Given the description of an element on the screen output the (x, y) to click on. 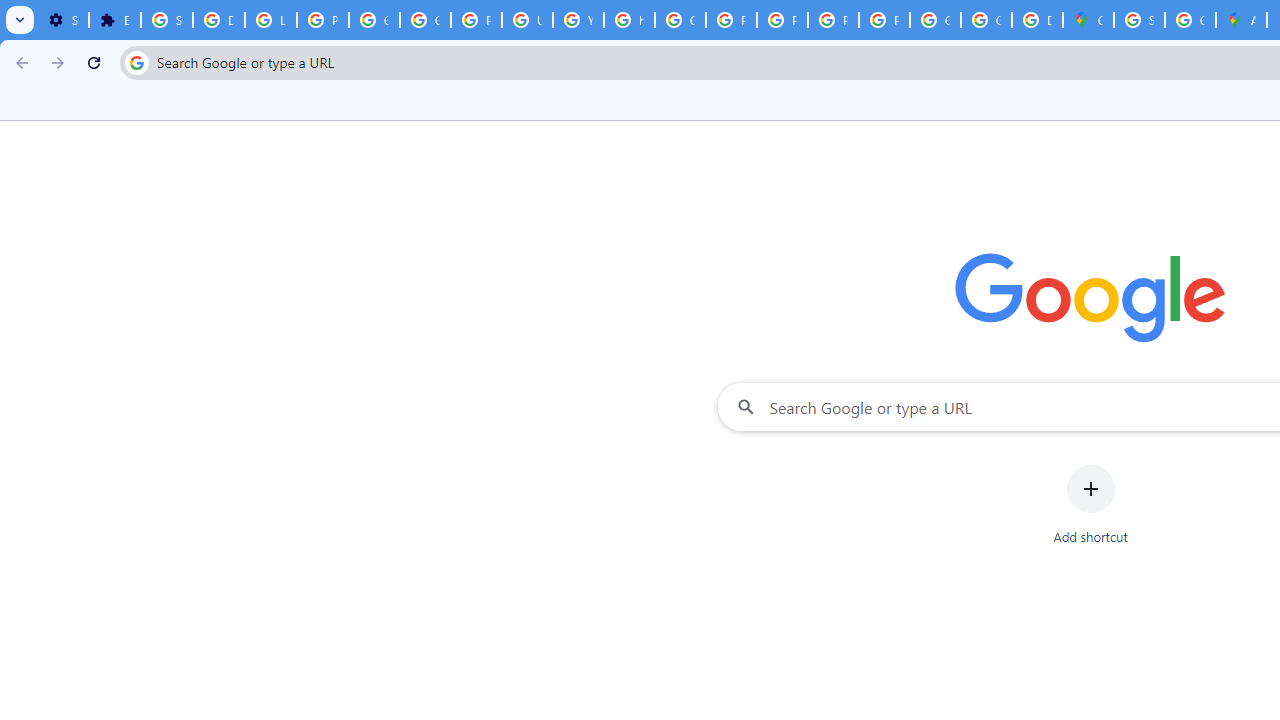
Google Account Help (374, 20)
Search icon (136, 62)
Sign in - Google Accounts (1138, 20)
YouTube (578, 20)
Settings - On startup (63, 20)
Delete photos & videos - Computer - Google Photos Help (218, 20)
Google Account Help (424, 20)
Create your Google Account (1189, 20)
https://scholar.google.com/ (629, 20)
Privacy Help Center - Policies Help (731, 20)
